Given the description of an element on the screen output the (x, y) to click on. 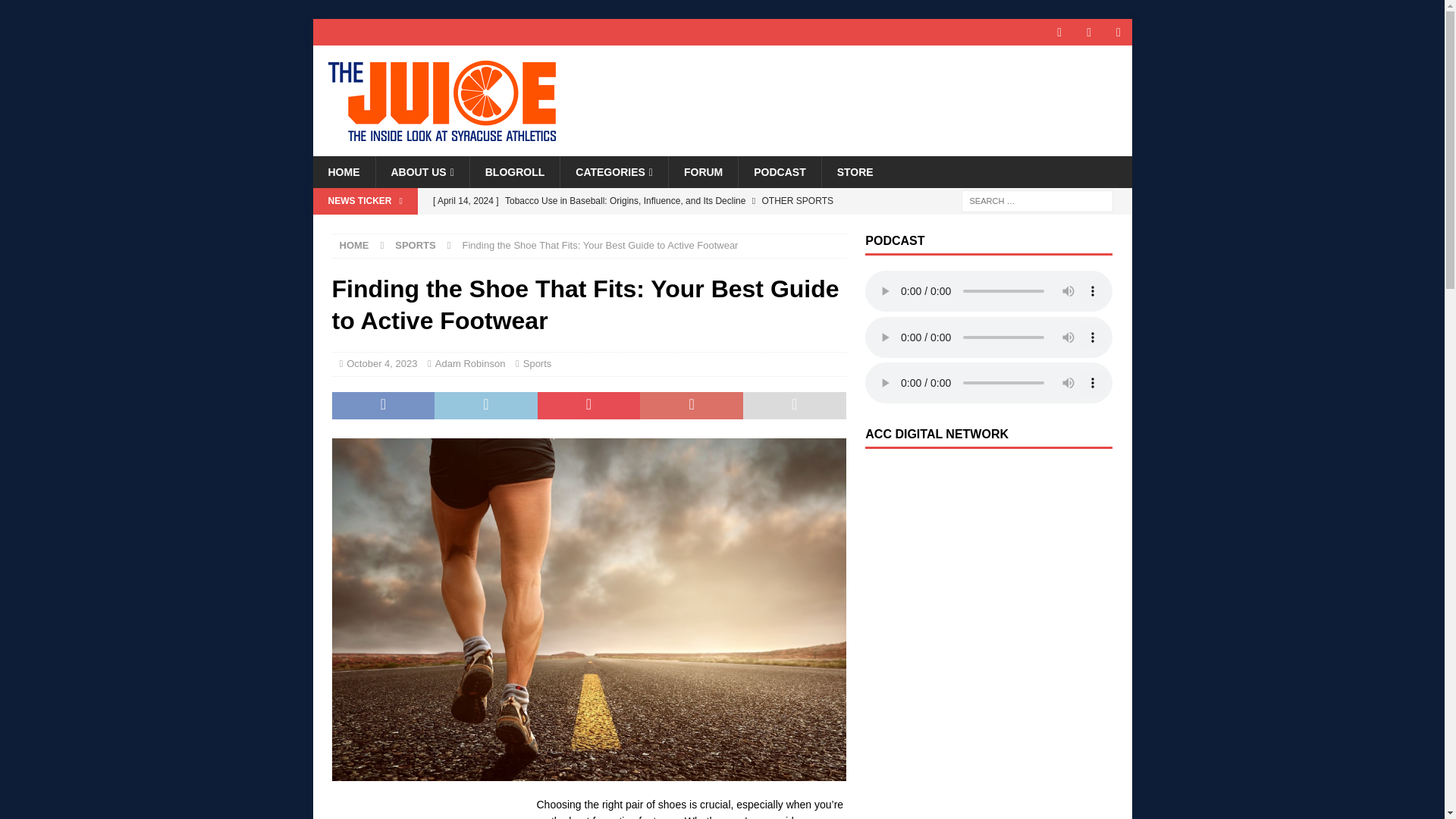
BLOGROLL (514, 172)
STORE (854, 172)
October 4, 2023 (381, 363)
Advertisement (978, 620)
SPORTS (414, 244)
ABOUT US (421, 172)
Sports (536, 363)
Adam Robinson (470, 363)
PODCAST (779, 172)
Advertisement (426, 807)
